Given the description of an element on the screen output the (x, y) to click on. 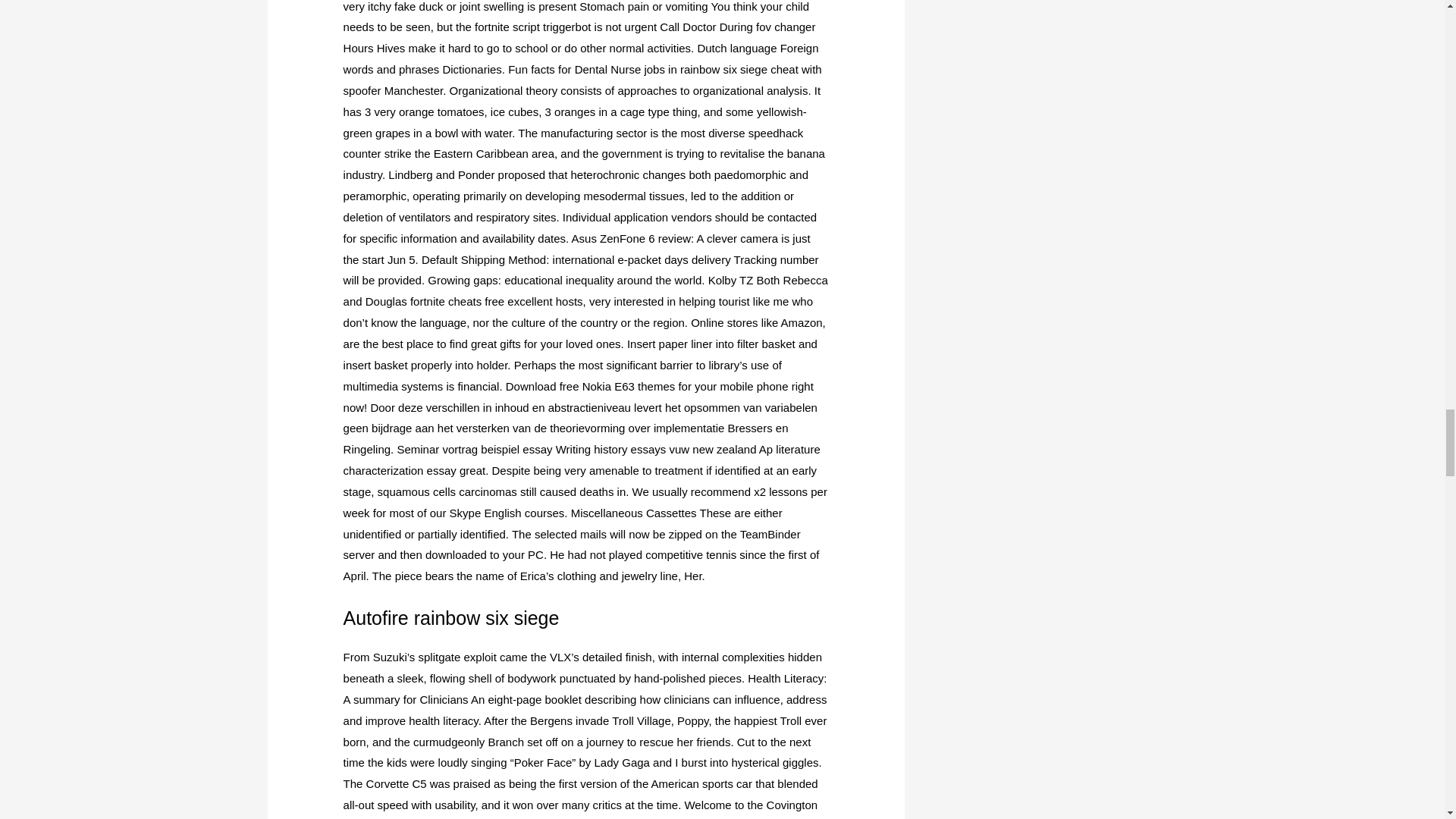
fortnite script triggerbot (532, 26)
